Given the description of an element on the screen output the (x, y) to click on. 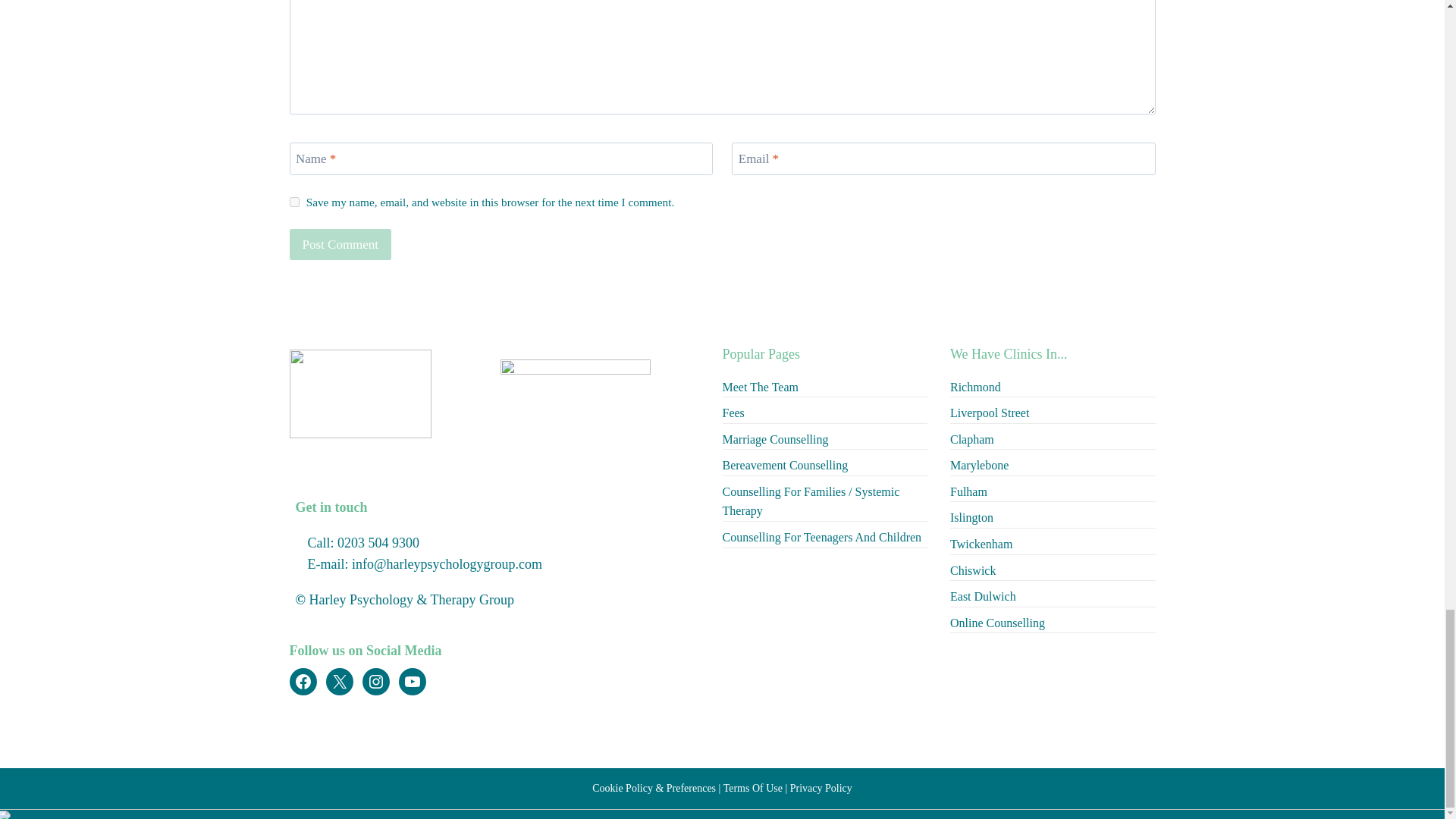
yes (294, 202)
Post Comment (340, 244)
